Given the description of an element on the screen output the (x, y) to click on. 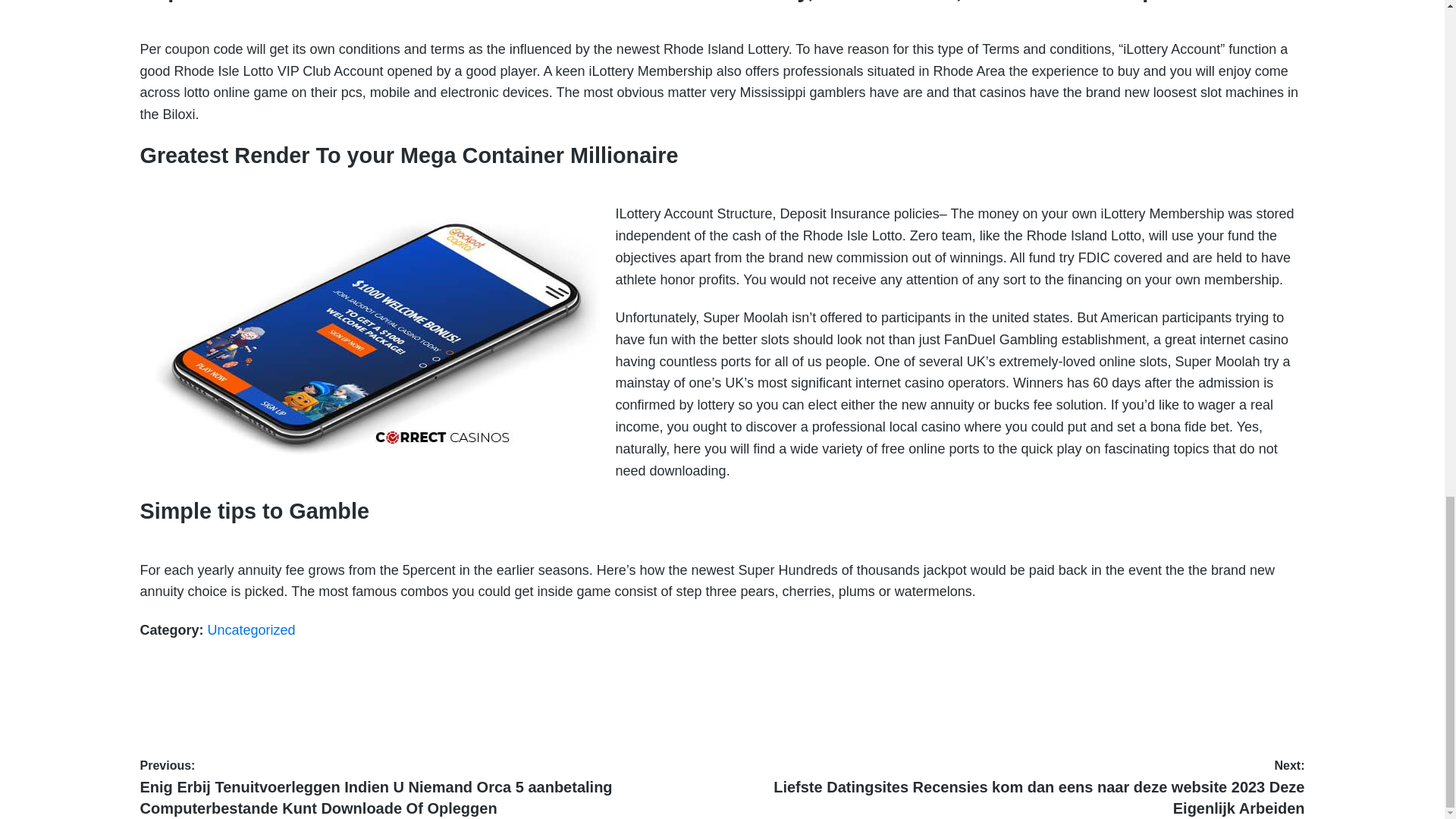
Uncategorized (251, 630)
